Given the description of an element on the screen output the (x, y) to click on. 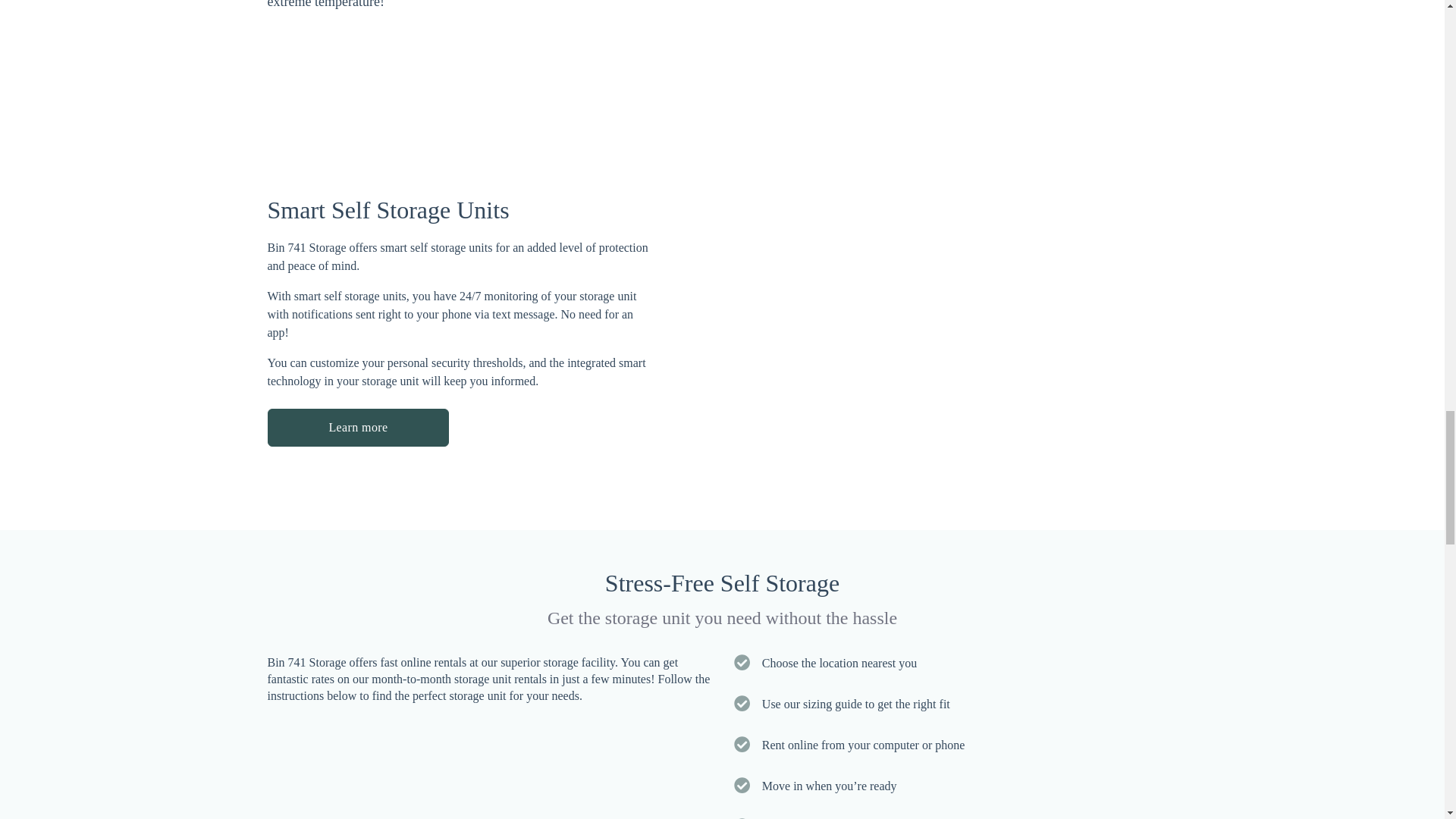
Learn more (357, 426)
